Given the description of an element on the screen output the (x, y) to click on. 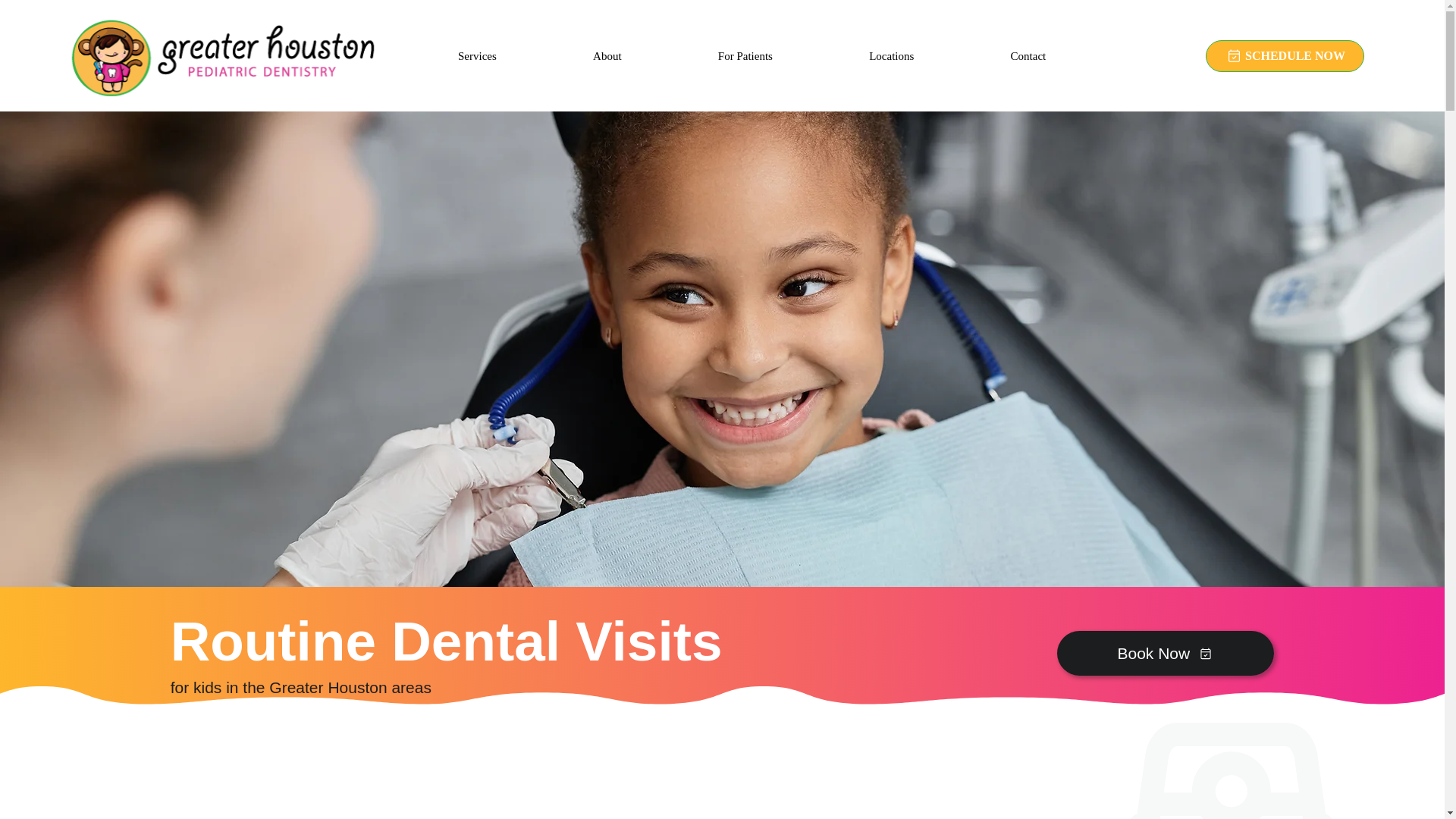
Services (476, 55)
Book Now (1165, 653)
SCHEDULE NOW (1284, 56)
Contact (1027, 55)
Locations (891, 55)
